Given the description of an element on the screen output the (x, y) to click on. 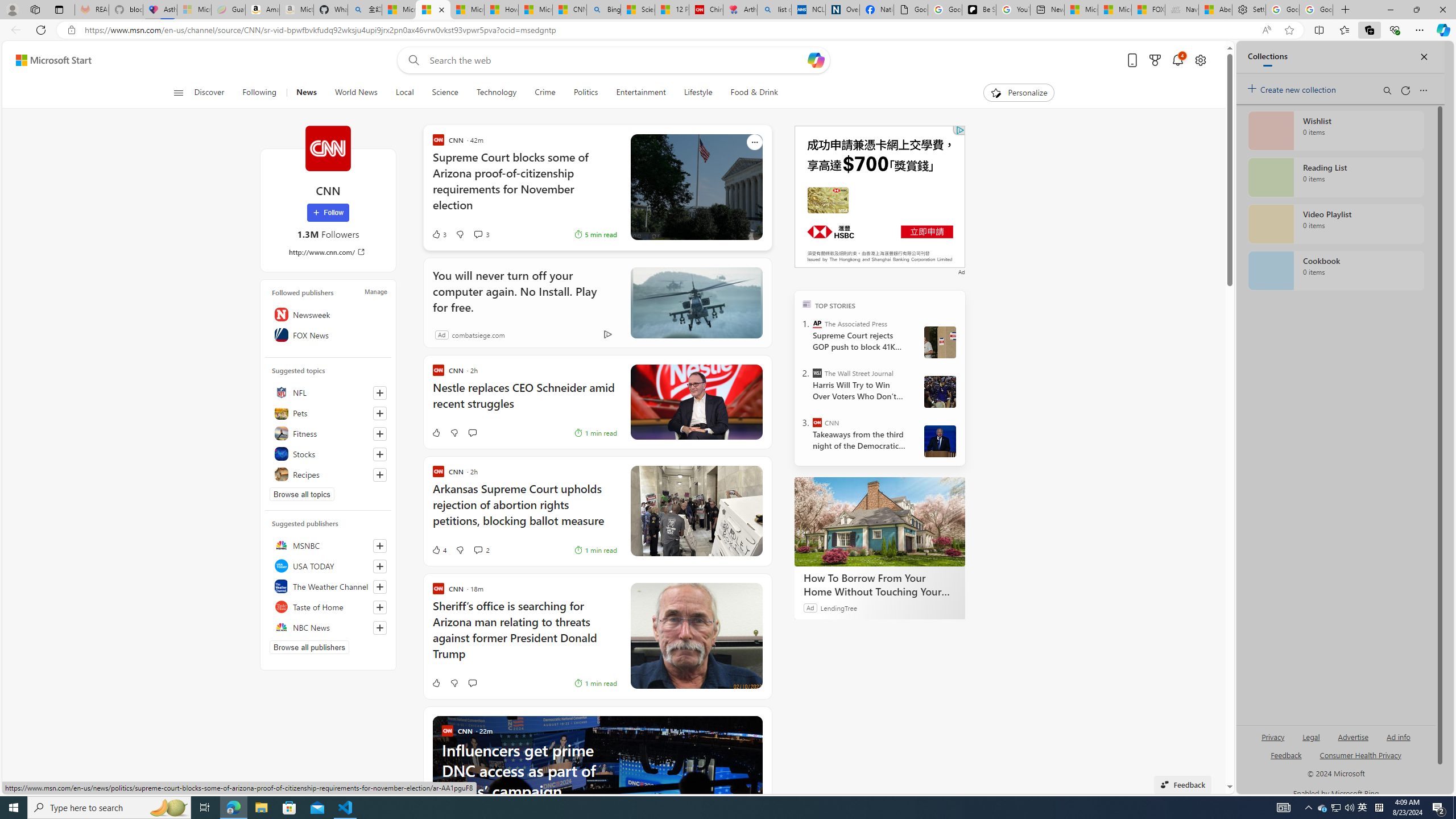
Class: qc-adchoices-link top-right  (959, 129)
Microsoft-Report a Concern to Bing - Sleeping (193, 9)
View comments 3 Comment (480, 233)
Technology (496, 92)
NCL Adult Asthma Inhaler Choice Guideline (807, 9)
How I Got Rid of Microsoft Edge's Unnecessary Features (500, 9)
NBC News (327, 627)
Follow this source (379, 627)
Bing (604, 9)
